Given the description of an element on the screen output the (x, y) to click on. 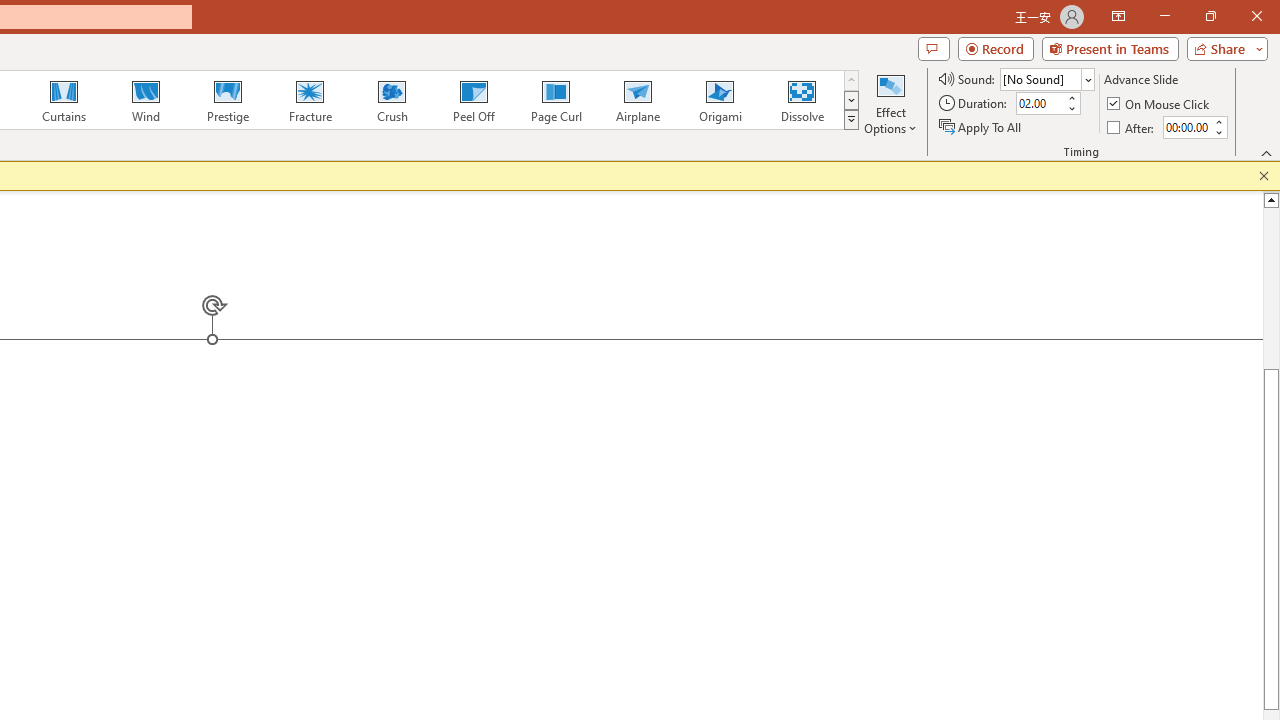
Origami (719, 100)
Effect Options (890, 102)
Sound (1046, 78)
Page Curl (555, 100)
After (1186, 127)
Close this message (1263, 176)
Airplane (637, 100)
